Given the description of an element on the screen output the (x, y) to click on. 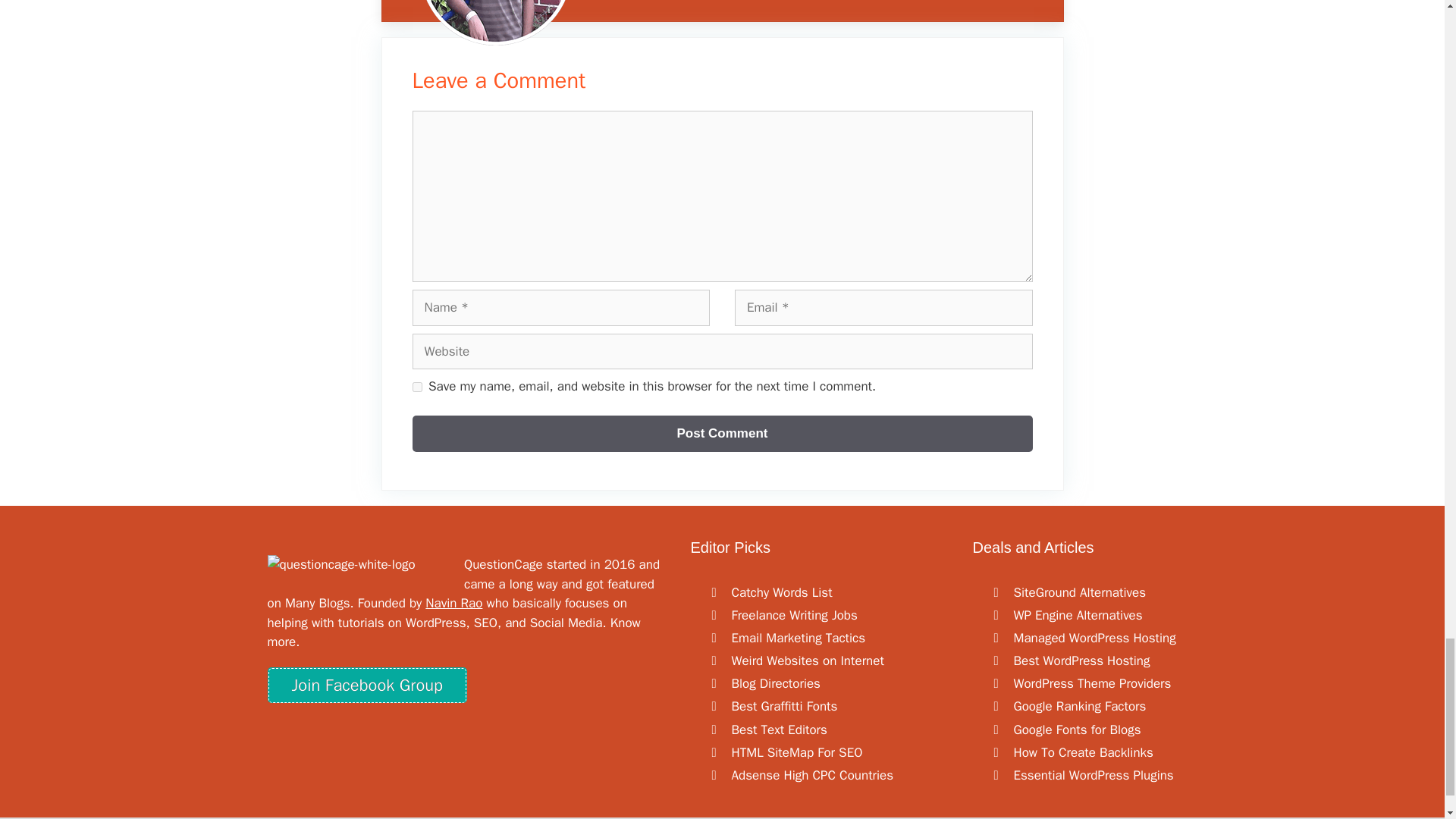
yes (417, 387)
Post Comment (722, 433)
